Given the description of an element on the screen output the (x, y) to click on. 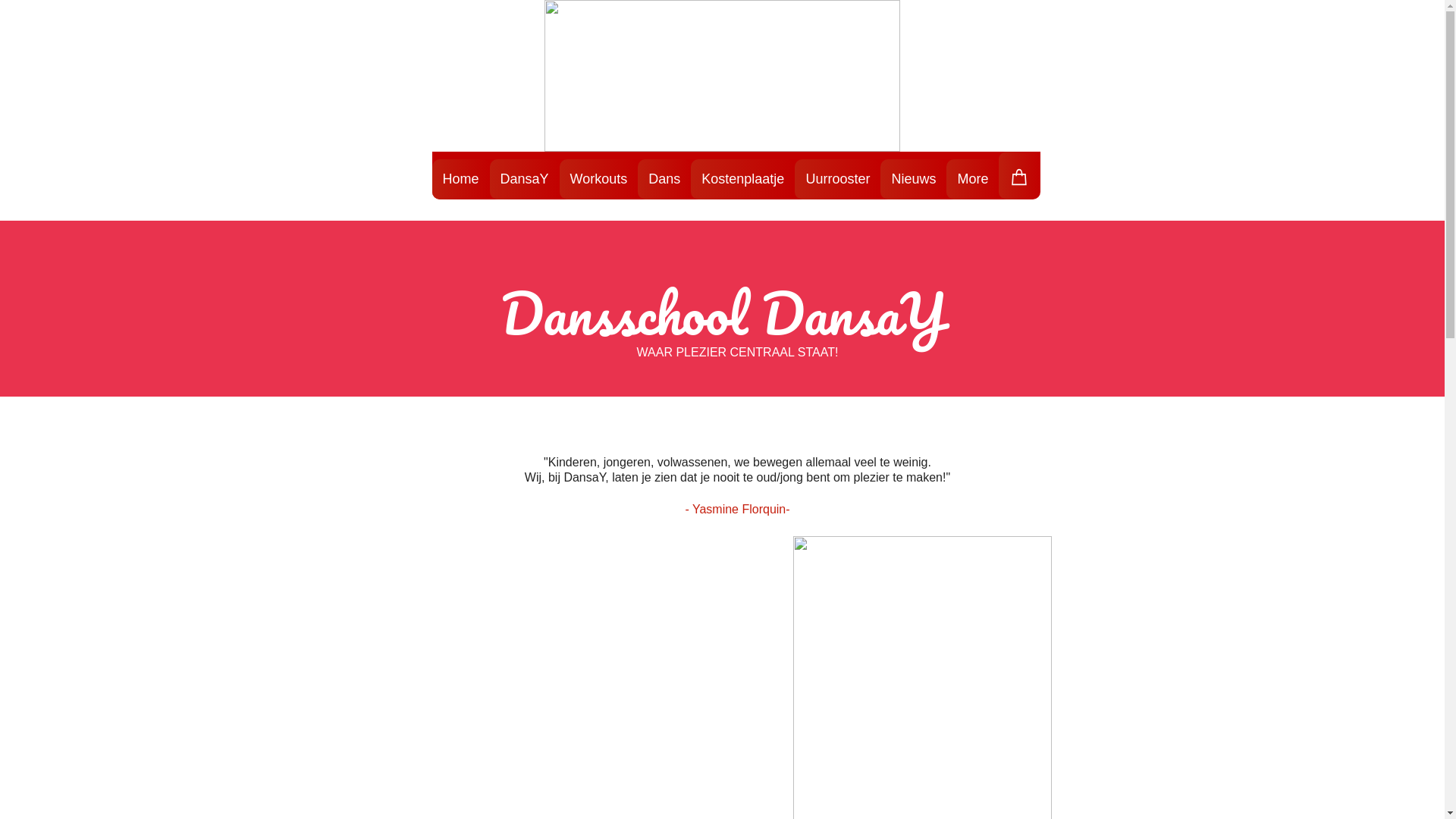
- Yasmine Florquin- Element type: text (736, 508)
Dans Element type: text (663, 179)
More Element type: text (972, 179)
DansaY Element type: text (524, 179)
  Element type: text (542, 600)
Home Element type: text (460, 179)
Kostenplaatje Element type: text (742, 179)
Workouts Element type: text (598, 179)
Nieuws Element type: text (913, 179)
Uurrooster Element type: text (837, 179)
